Given the description of an element on the screen output the (x, y) to click on. 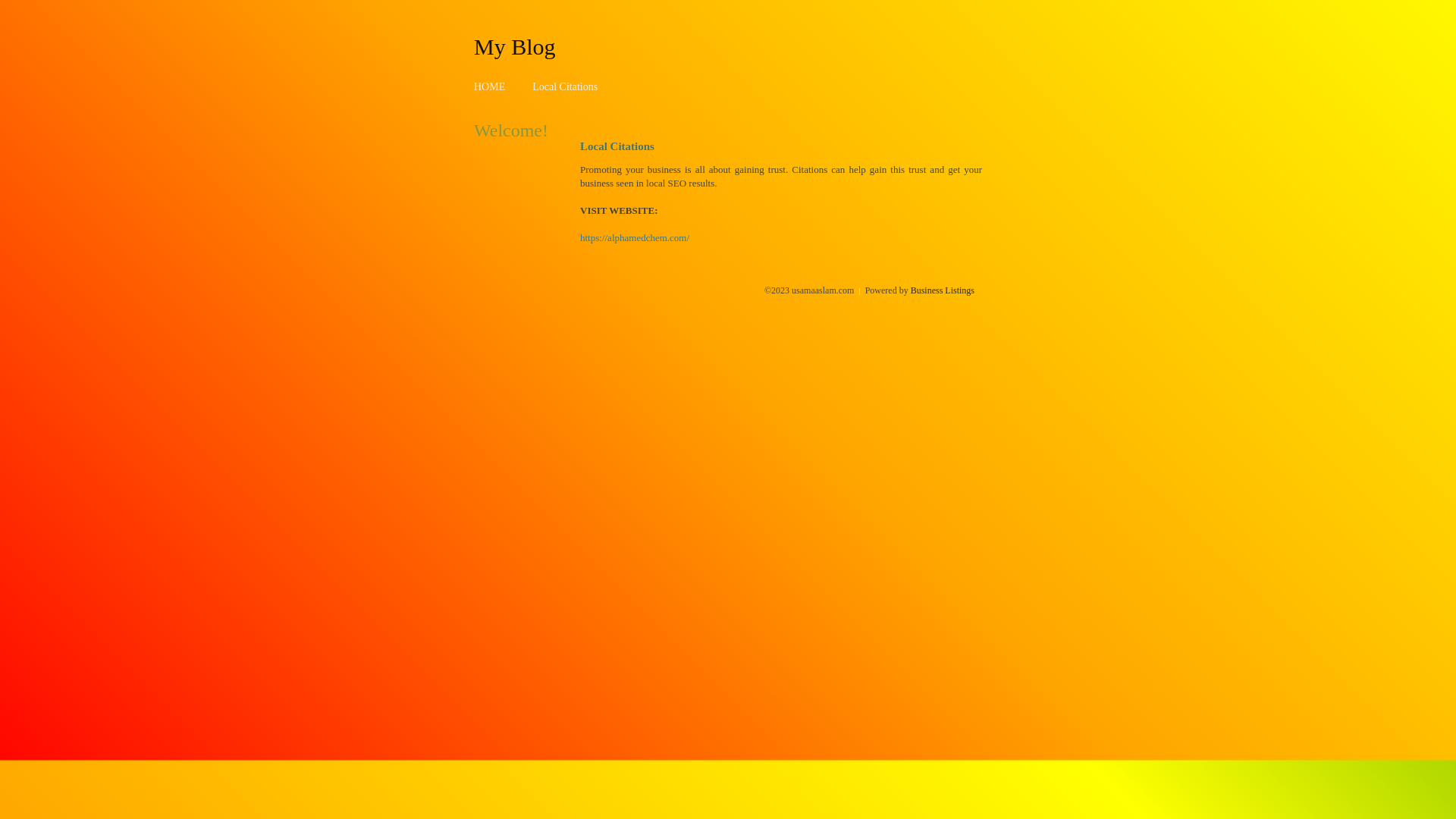
HOME Element type: text (489, 86)
Business Listings Element type: text (942, 290)
Local Citations Element type: text (564, 86)
https://alphamedchem.com/ Element type: text (634, 237)
My Blog Element type: text (514, 46)
